Given the description of an element on the screen output the (x, y) to click on. 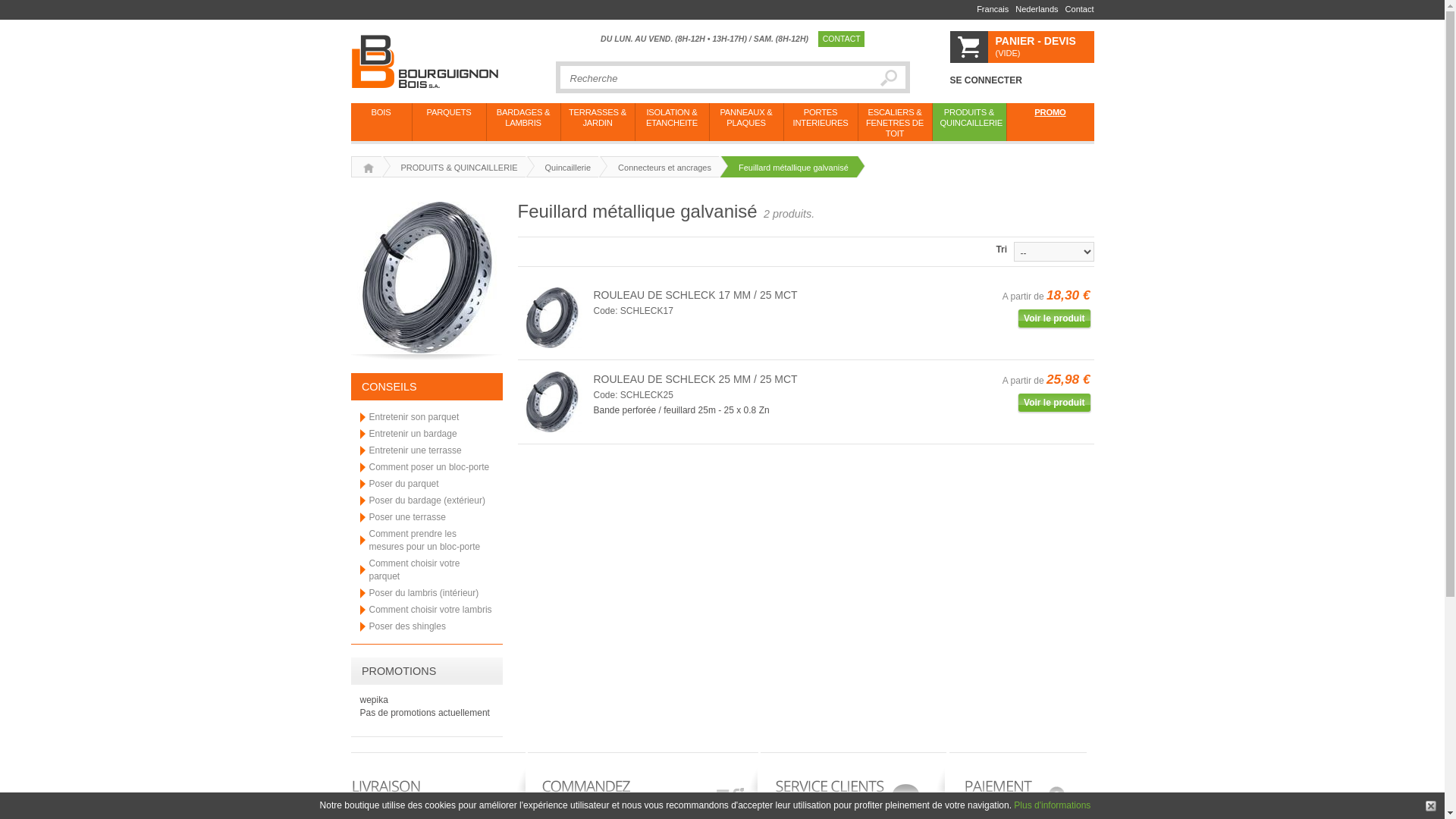
Bourguignon Bois Element type: hover (452, 60)
Entretenir une terrasse Element type: text (414, 450)
Contact Element type: text (1076, 9)
PANIER - DEVIS Element type: text (1043, 40)
Comment prendre les mesures pour un bloc-porte Element type: text (424, 540)
CONTACT Element type: text (840, 39)
ESCALIERS & FENETRES DE TOIT Element type: text (894, 122)
PORTES INTERIEURES Element type: text (820, 122)
Voir le produit Element type: text (1053, 402)
Poser des shingles Element type: text (406, 626)
Connecteurs et ancrages Element type: text (658, 166)
BARDAGES & LAMBRIS Element type: text (523, 122)
ROULEAU DE SCHLECK 17 MM / 25 MCT Element type: hover (551, 316)
Quincaillerie Element type: text (562, 166)
Comment poser un bloc-porte Element type: text (428, 466)
PROMOTIONS Element type: text (398, 671)
PRODUITS & QUINCAILLERIE Element type: text (969, 122)
PANNEAUX & PLAQUES Element type: text (746, 122)
Poser une terrasse Element type: text (406, 516)
Voir le produit Element type: text (1053, 318)
Entretenir son parquet Element type: text (413, 416)
Nederlands Element type: text (1032, 9)
CONSEILS Element type: text (389, 386)
PANIER - DEVIS
(VIDE) Element type: text (1021, 46)
PARQUETS Element type: text (449, 122)
Comment choisir votre lambris Element type: text (429, 609)
SE CONNECTER Element type: text (985, 80)
PRODUITS & QUINCAILLERIE Element type: text (452, 166)
TERRASSES & JARDIN Element type: text (597, 122)
Francais Element type: text (988, 9)
ROULEAU DE SCHLECK 25 MM / 25 MCT Element type: hover (551, 400)
Comment choisir votre parquet Element type: text (413, 569)
Plus d'informations Element type: text (1051, 805)
ISOLATION & ETANCHEITE Element type: text (672, 122)
Poser du parquet Element type: text (403, 483)
PROMO Element type: text (1050, 122)
BOIS Element type: text (380, 122)
ROULEAU DE SCHLECK 17 MM / 25 MCT Element type: text (695, 294)
Entretenir un bardage Element type: text (412, 433)
ROULEAU DE SCHLECK 25 MM / 25 MCT Element type: text (695, 379)
